Given the description of an element on the screen output the (x, y) to click on. 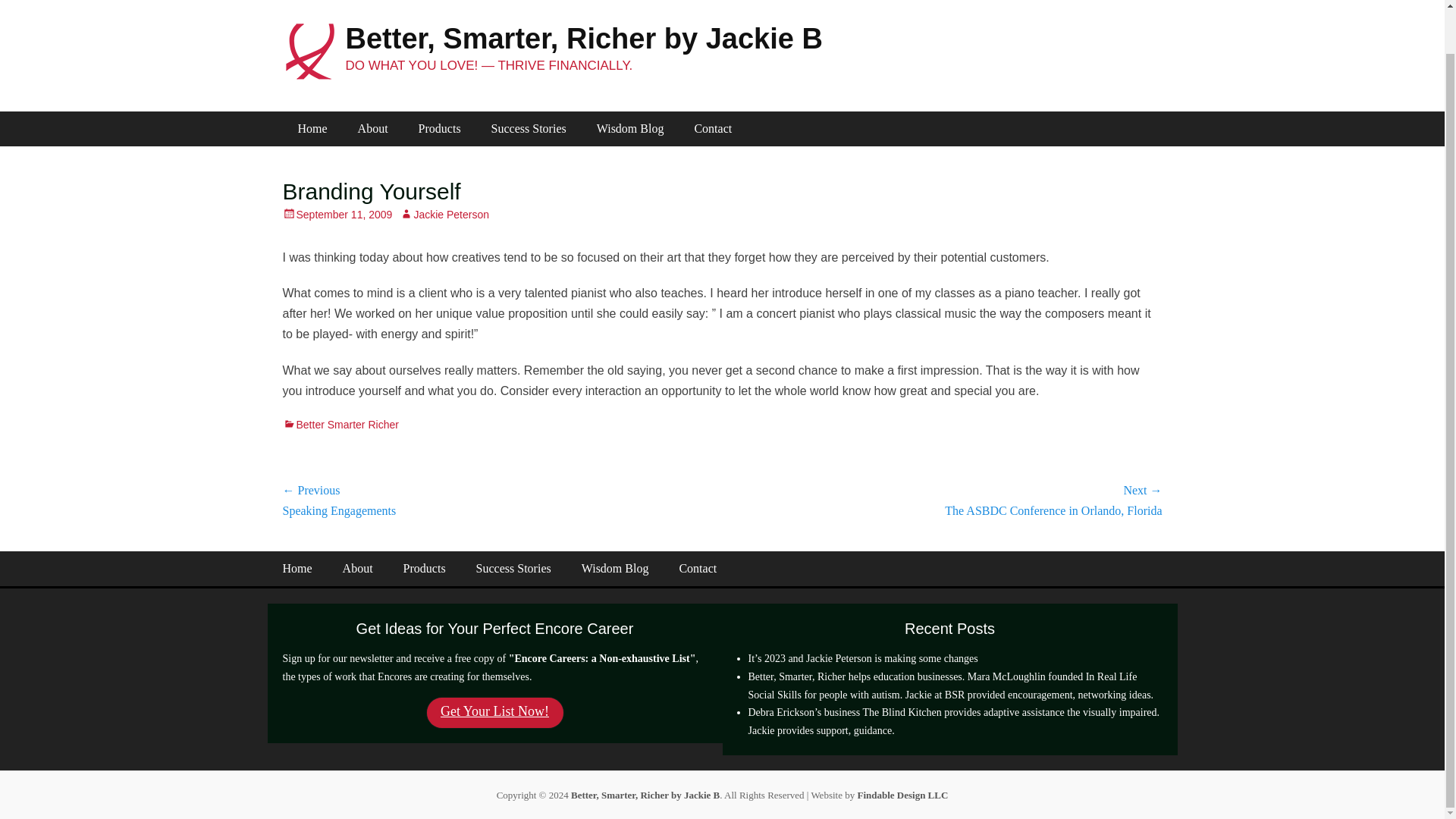
Get Your List Now! (494, 712)
Success Stories (528, 128)
About (372, 128)
Home (296, 568)
Contact (712, 128)
Better Smarter Richer (339, 424)
Products (439, 128)
Wisdom Blog (629, 128)
Better, Smarter, Richer by Jackie B (644, 794)
Findable Design LLC (900, 794)
